Given the description of an element on the screen output the (x, y) to click on. 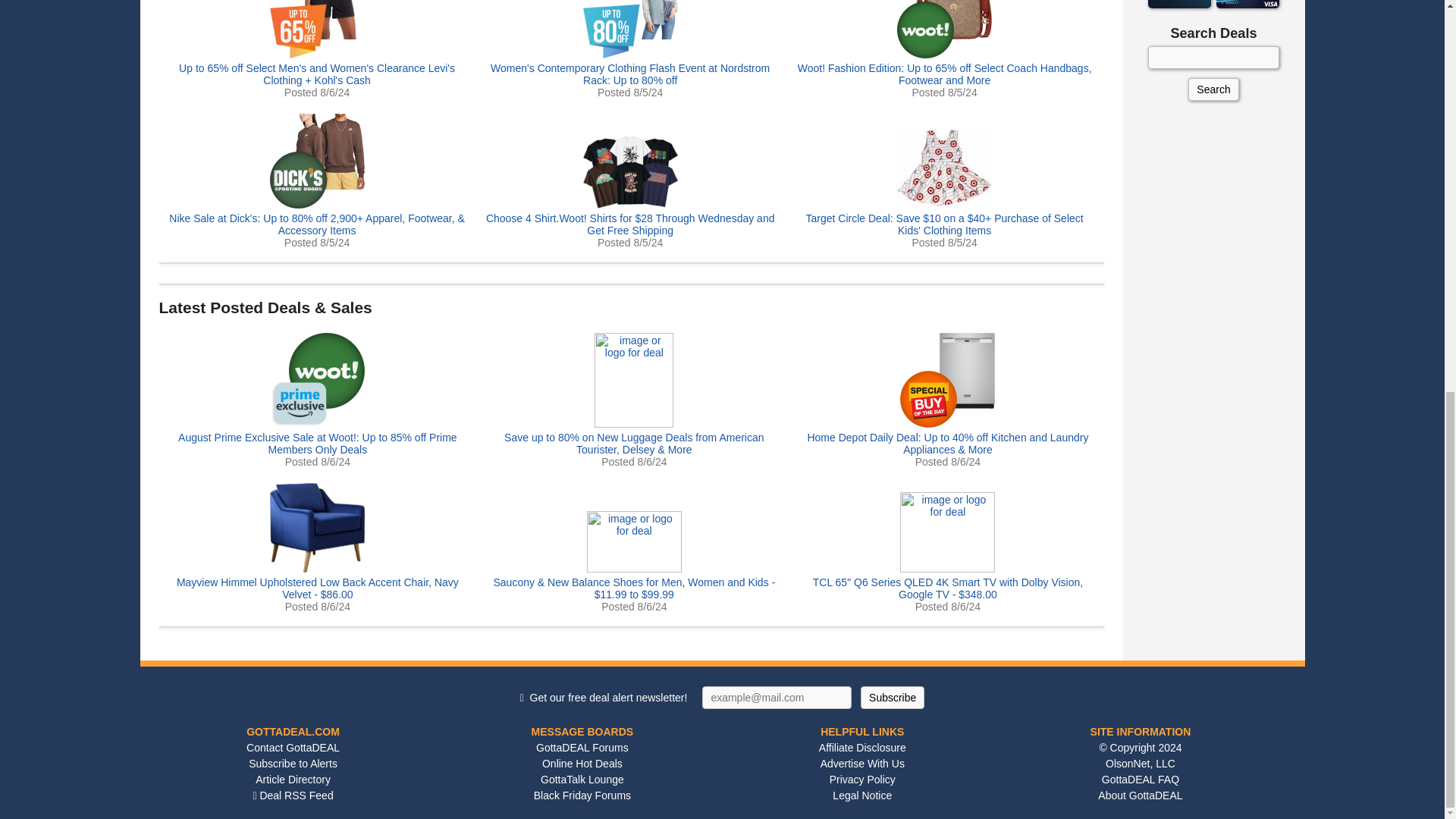
Subscribe (892, 697)
